Given the description of an element on the screen output the (x, y) to click on. 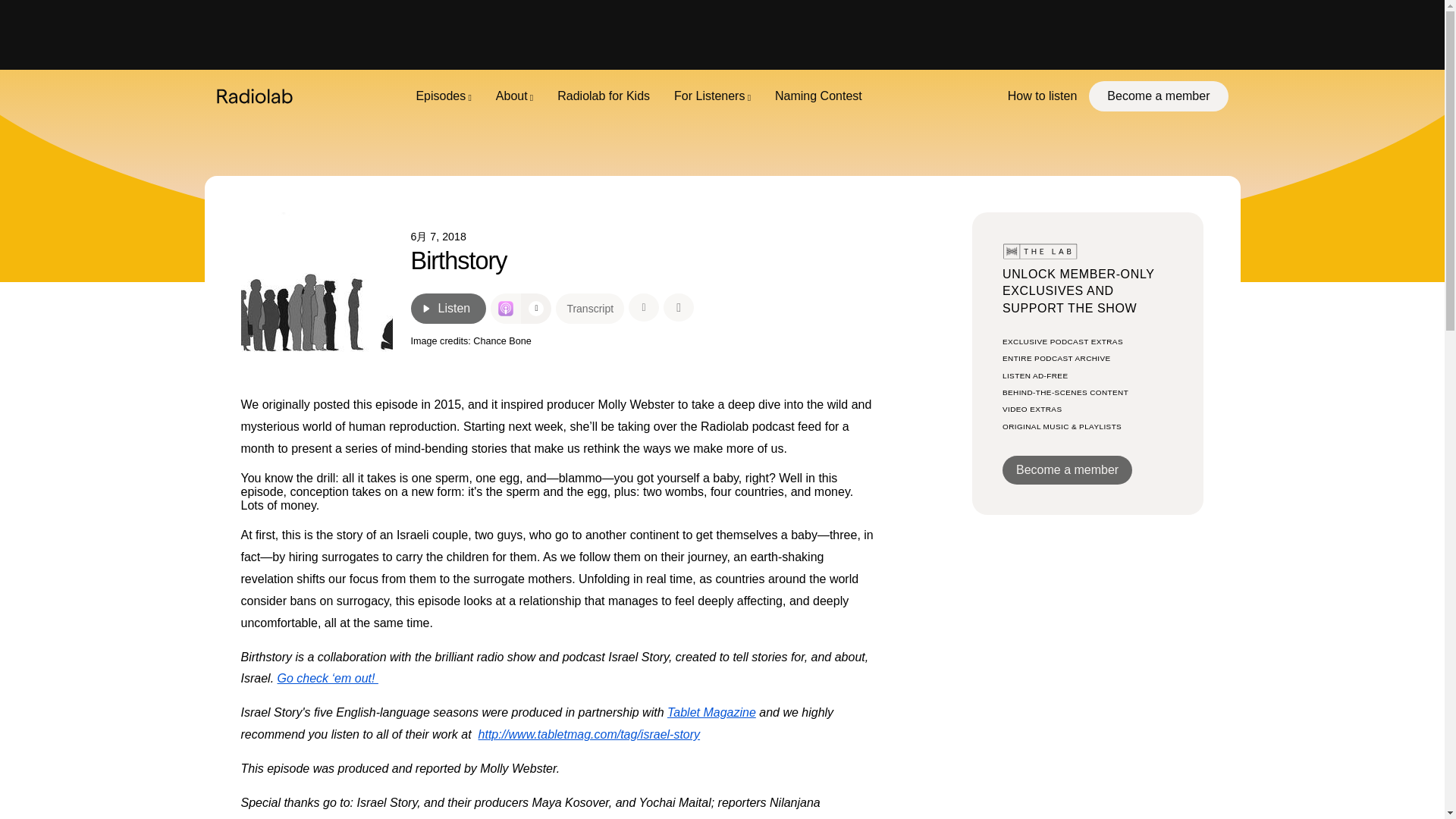
Open Apple Podcasts (505, 308)
Become a member (1158, 96)
Transcript (590, 308)
Episodes (443, 96)
Choose platform (536, 308)
Radiolab for Kids (603, 96)
How to listen (1042, 96)
Tablet Magazine (710, 712)
About (513, 96)
For Listeners (712, 96)
